Given the description of an element on the screen output the (x, y) to click on. 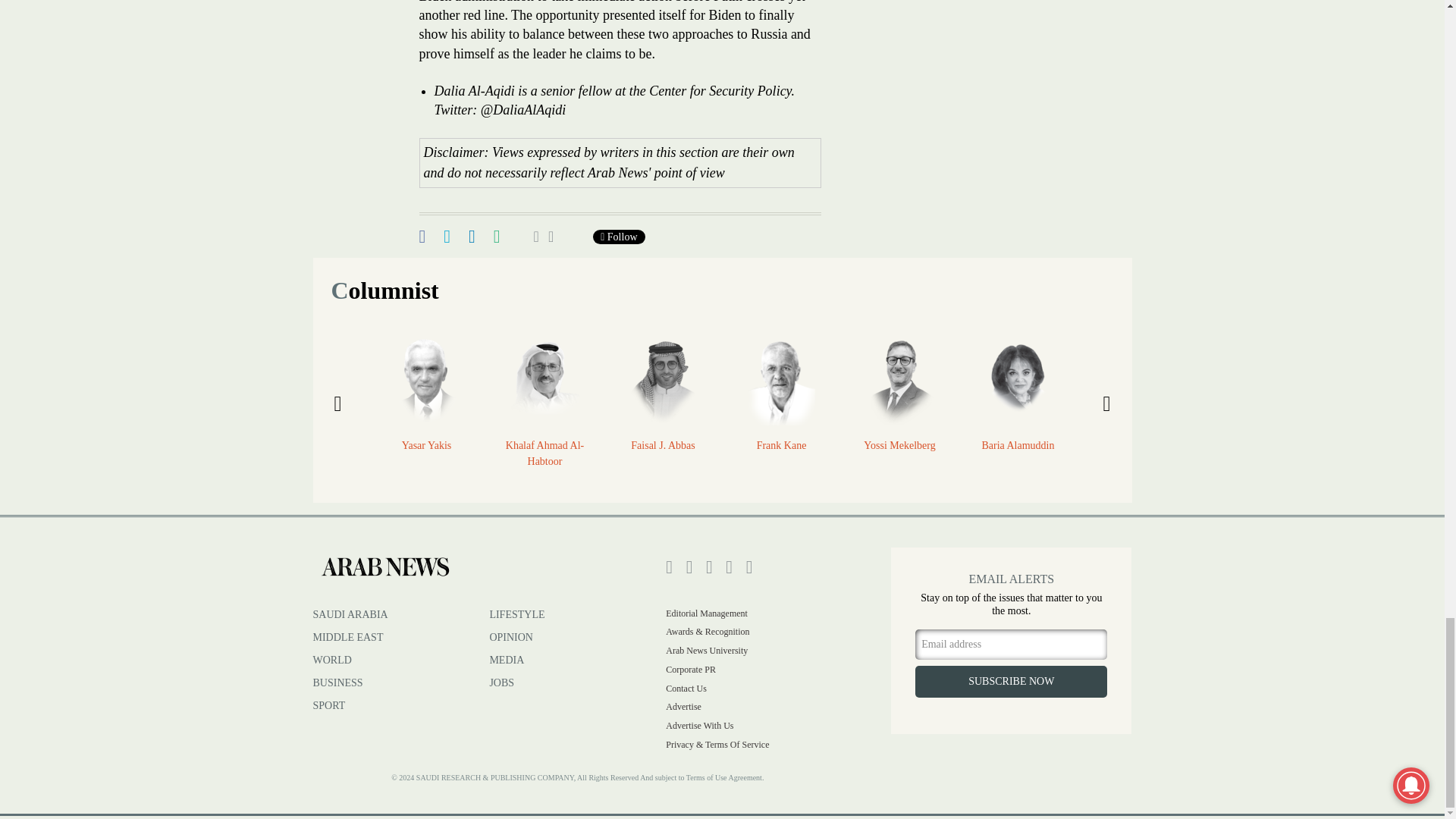
Arabnews (385, 566)
Subscribe Now (1010, 680)
